Given the description of an element on the screen output the (x, y) to click on. 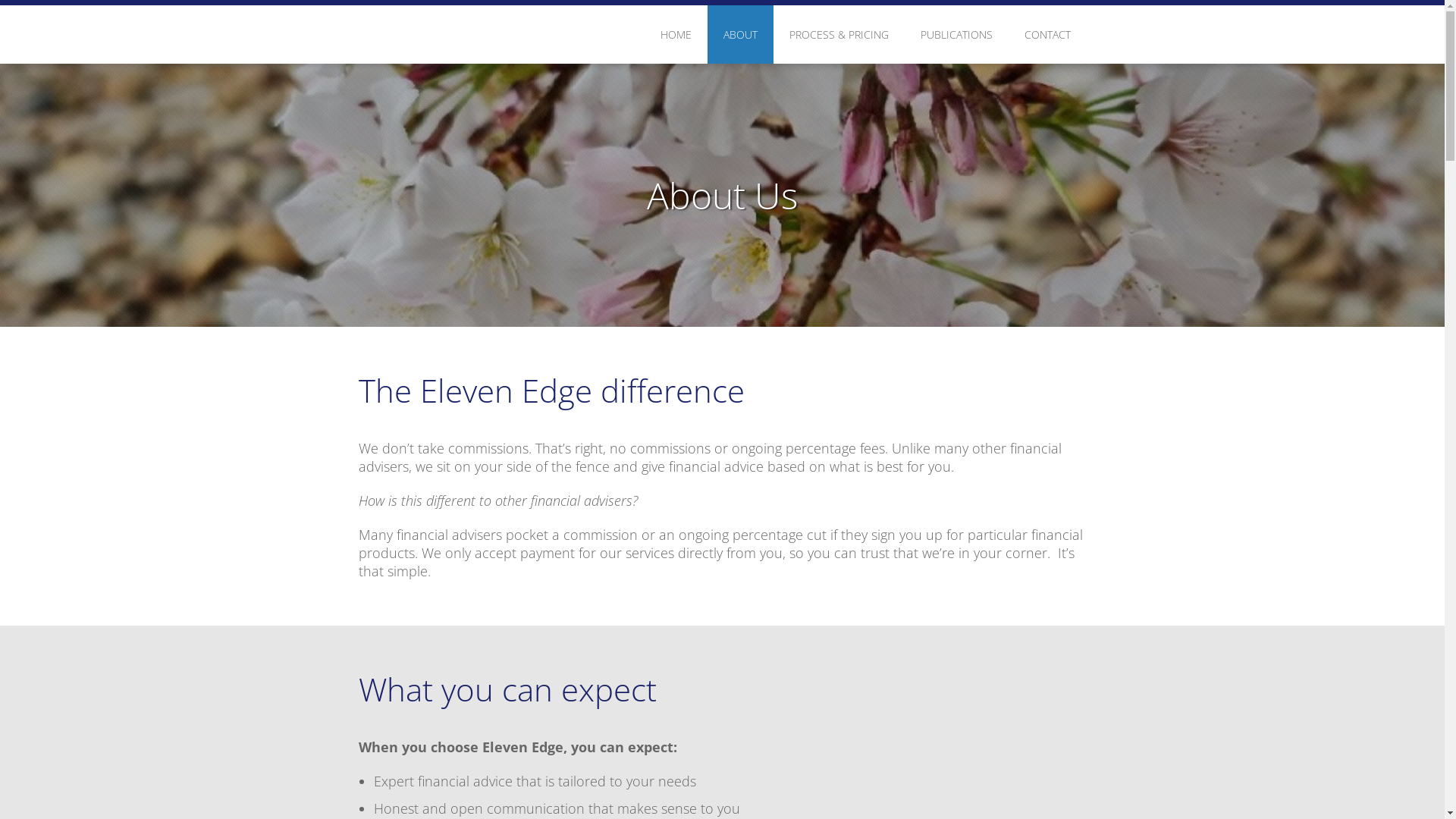
CONTACT Element type: text (1047, 34)
PROCESS & PRICING Element type: text (838, 34)
PUBLICATIONS Element type: text (955, 34)
ABOUT Element type: text (739, 34)
HOME Element type: text (675, 34)
